Given the description of an element on the screen output the (x, y) to click on. 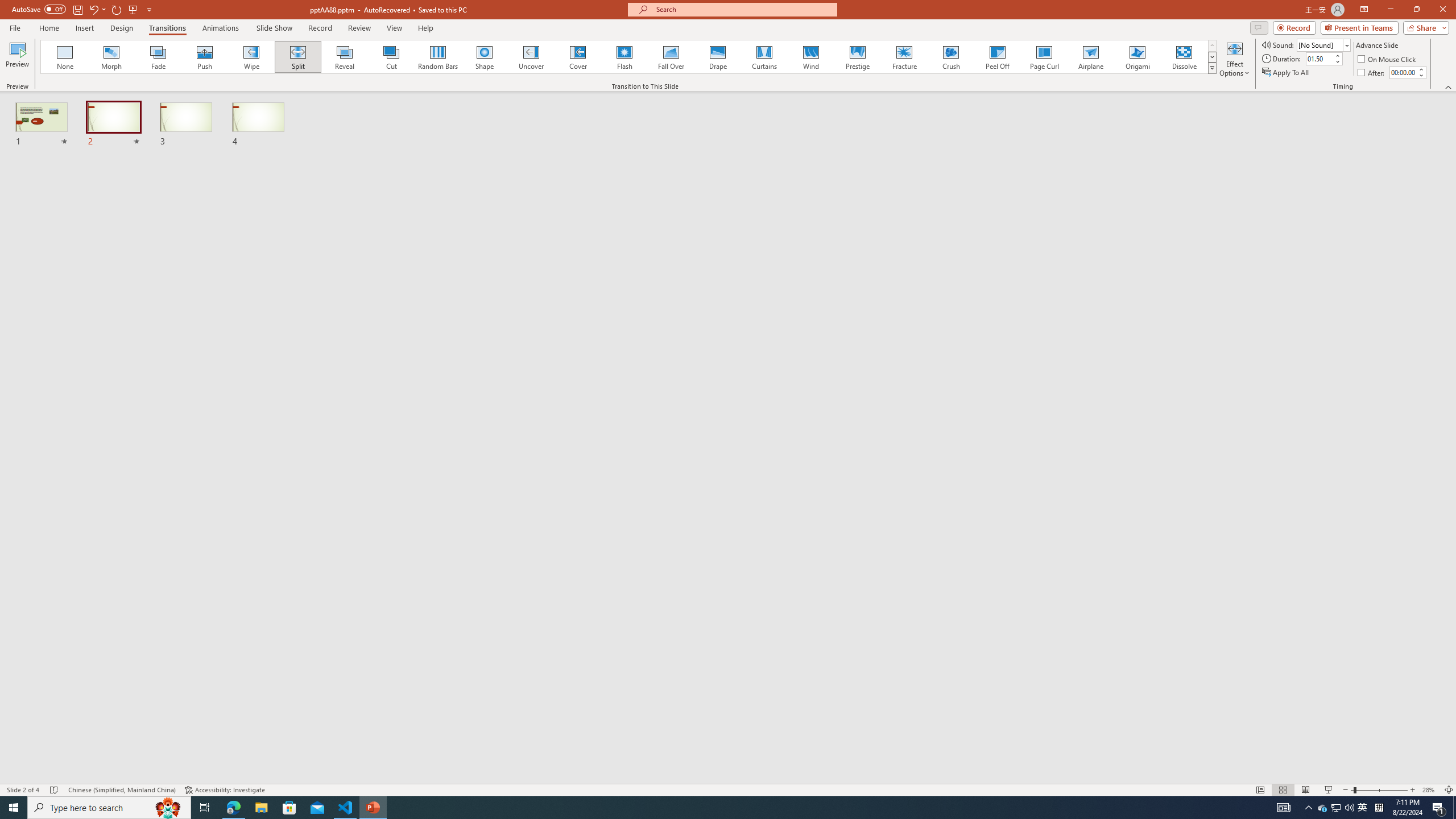
Random Bars (437, 56)
Push (205, 56)
AutomationID: AnimationTransitionGallery (628, 56)
Sound (1324, 44)
None (65, 56)
